Given the description of an element on the screen output the (x, y) to click on. 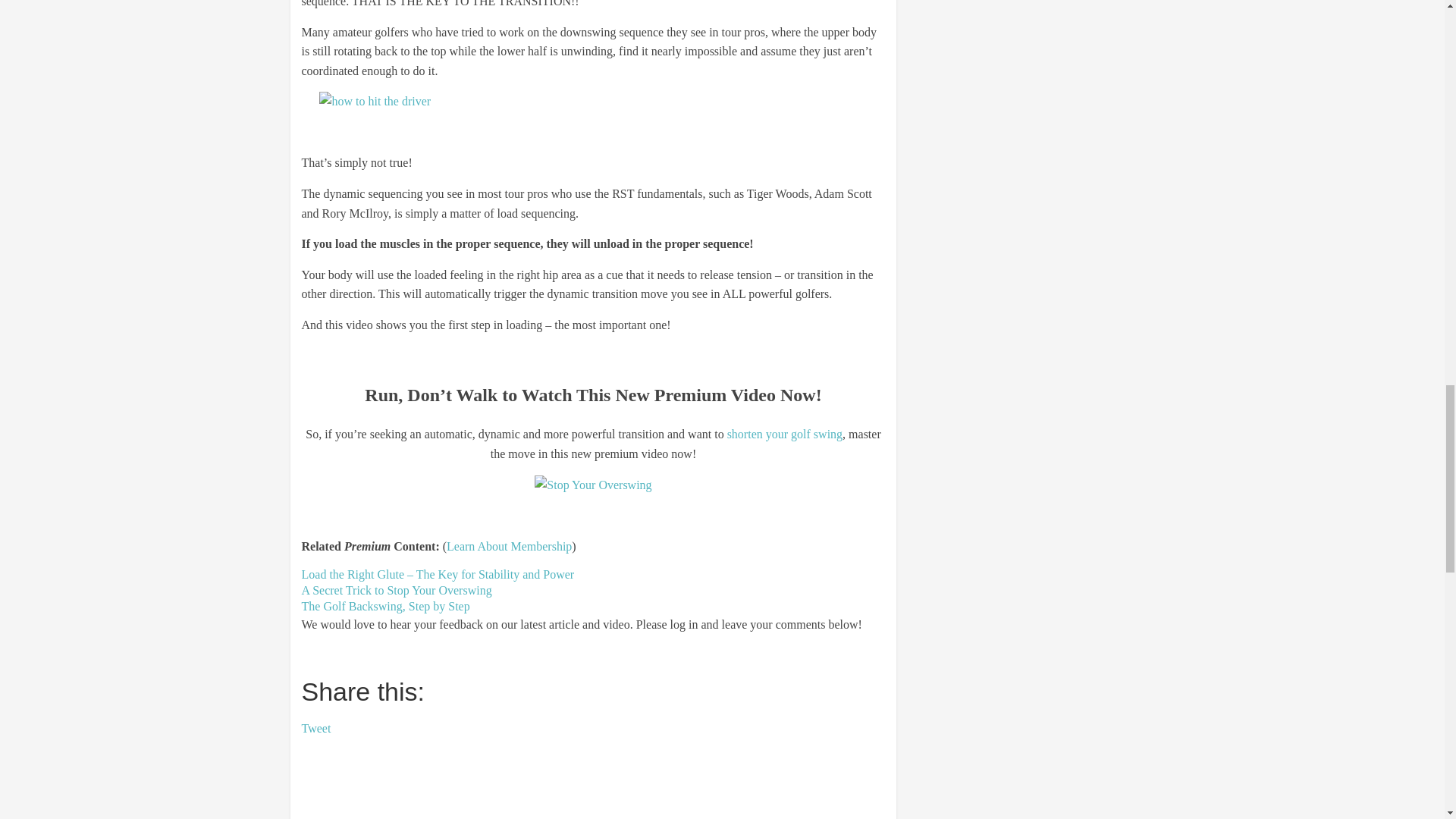
shorten your golf swing (784, 433)
Learn About Membership (509, 545)
Tweet (316, 727)
The Golf Backswing, Step by Step (385, 605)
A Secret Trick to Stop Your Overswing (396, 590)
